Given the description of an element on the screen output the (x, y) to click on. 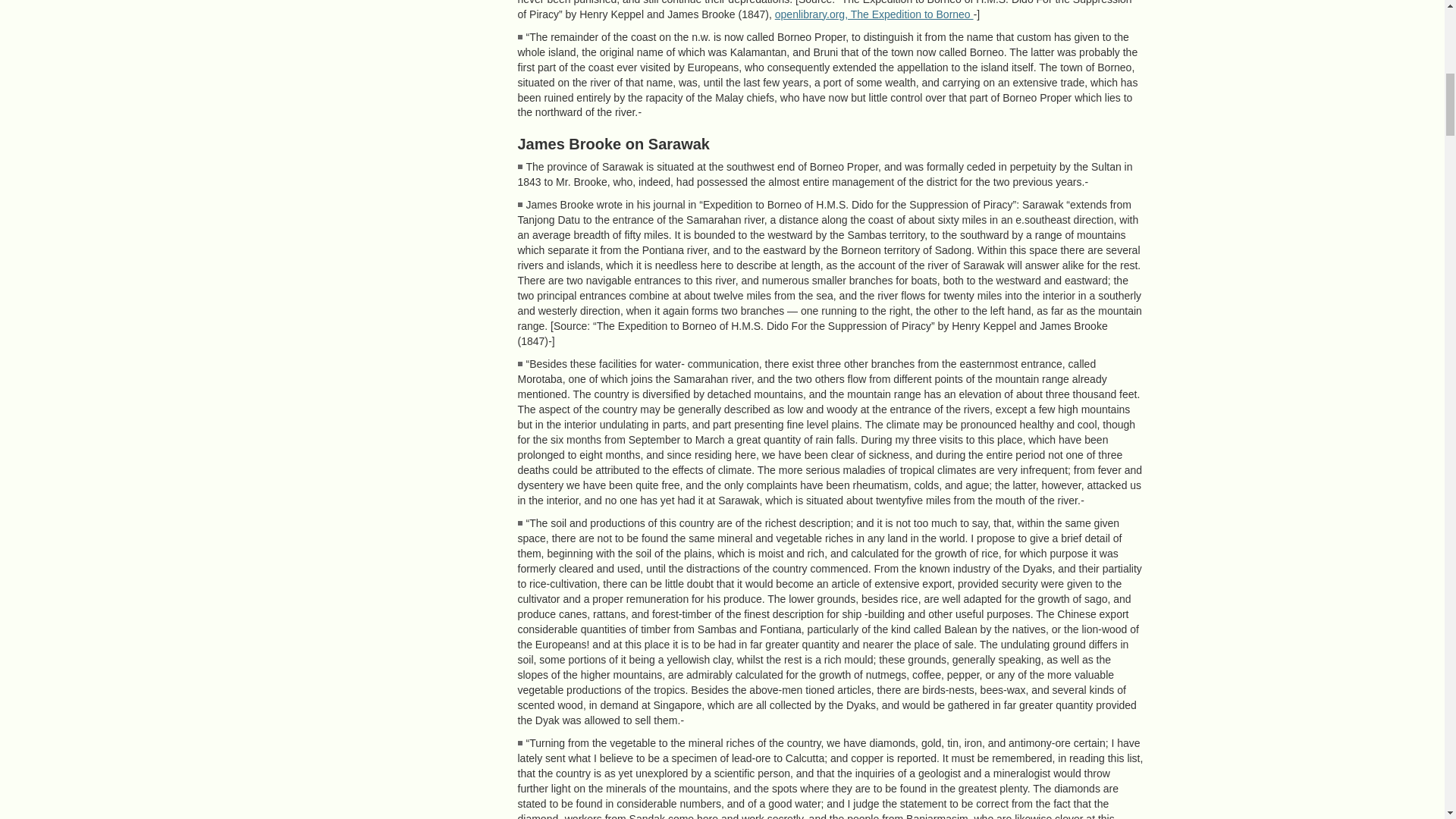
openlibrary.org, The Expedition to Borneo (874, 14)
